Given the description of an element on the screen output the (x, y) to click on. 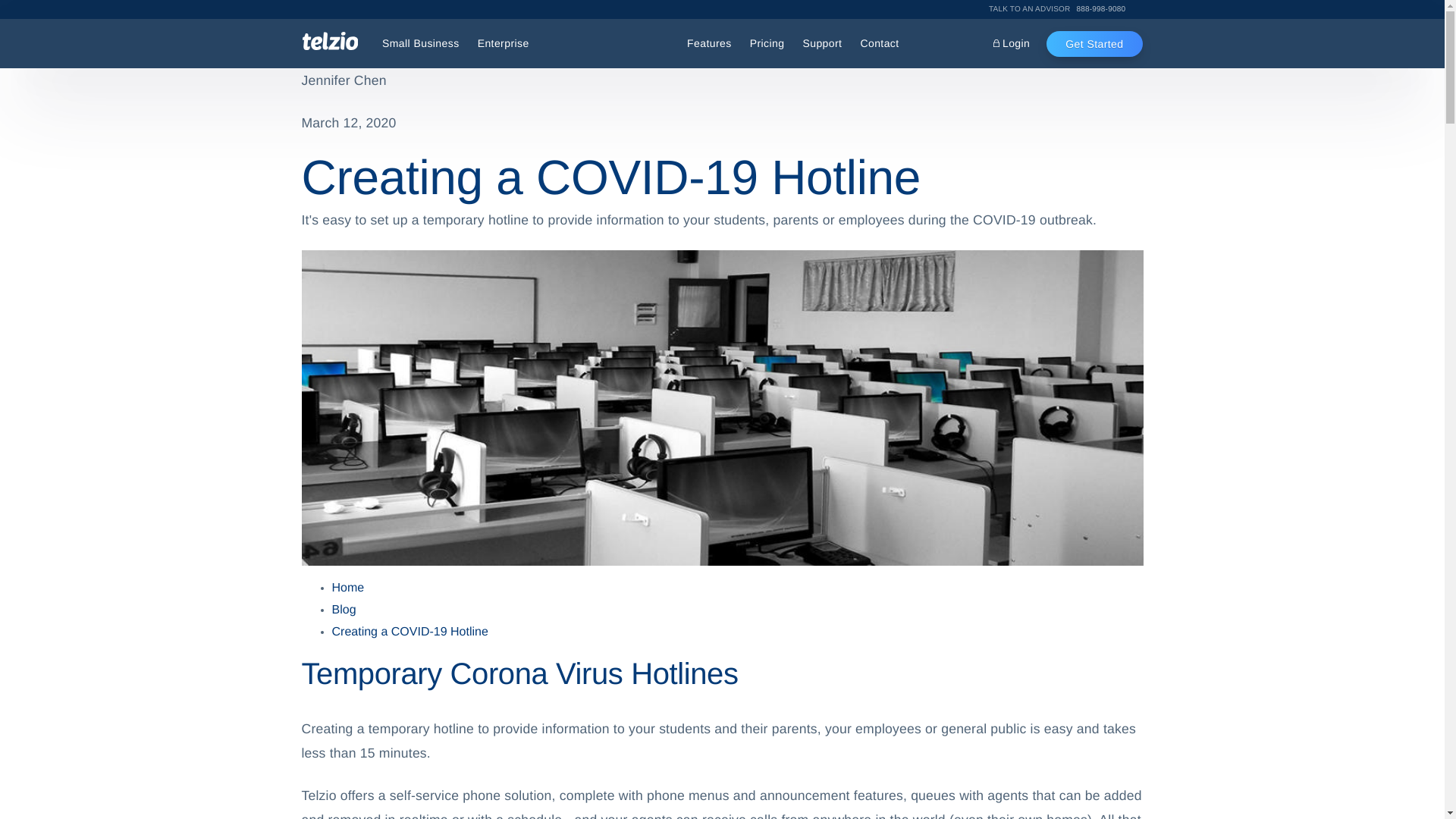
Features (709, 43)
Get Started (1093, 43)
Contact (878, 43)
Small Business (420, 43)
Get Started (1093, 43)
Enterprise (503, 43)
Contact (878, 43)
Enterprise (503, 43)
Features (709, 43)
Small Business (420, 43)
Talk to an Advisor. 8 8 8. 9 9 8. 9 0 8 0. (1065, 9)
Support (1065, 9)
Login (821, 43)
Support (1011, 43)
